Given the description of an element on the screen output the (x, y) to click on. 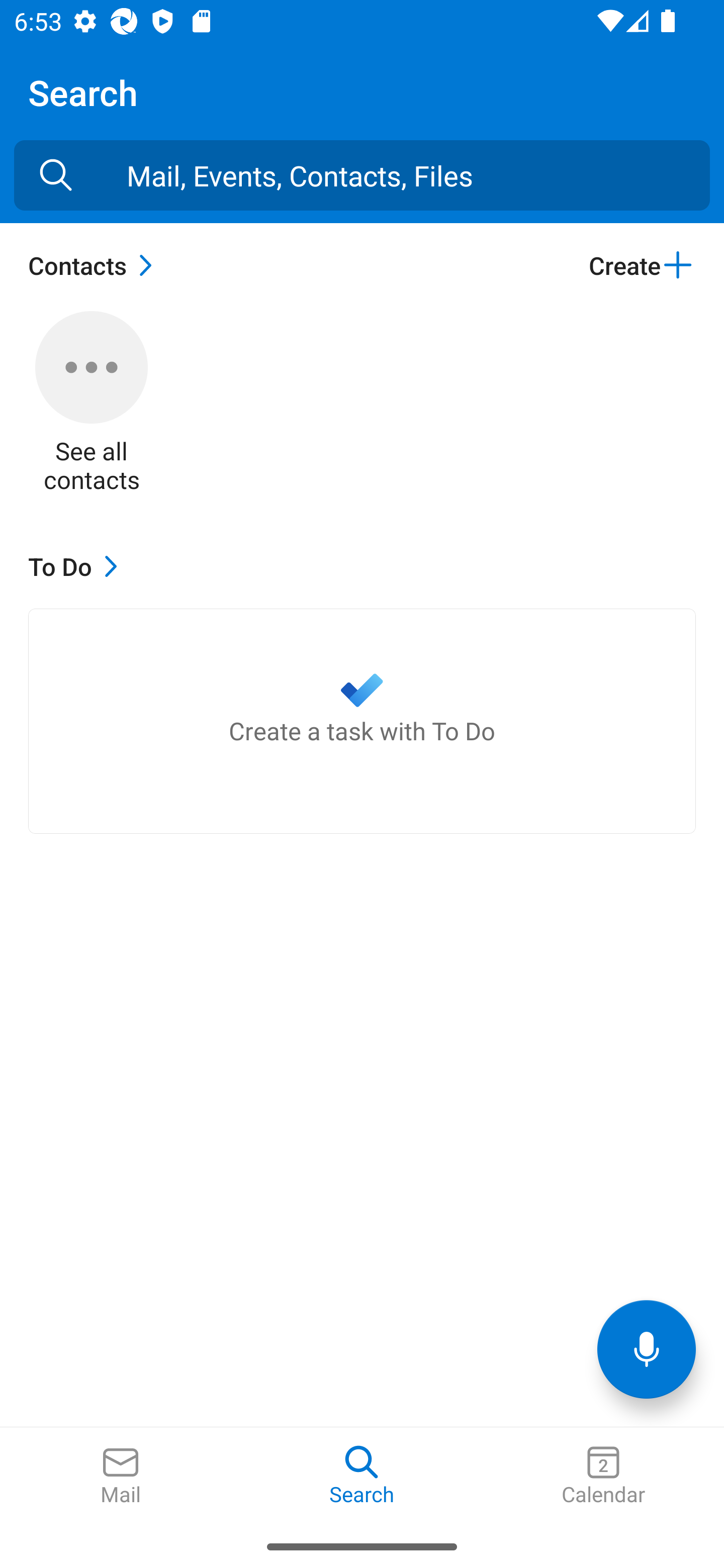
Search Mail, Events, Contacts, Files (55, 174)
Contacts (95, 264)
Create Create contact (641, 264)
See all contacts (91, 402)
To Do (77, 565)
Create a task with To Do (361, 721)
Voice Assistant (646, 1348)
Mail (120, 1475)
Calendar (603, 1475)
